Given the description of an element on the screen output the (x, y) to click on. 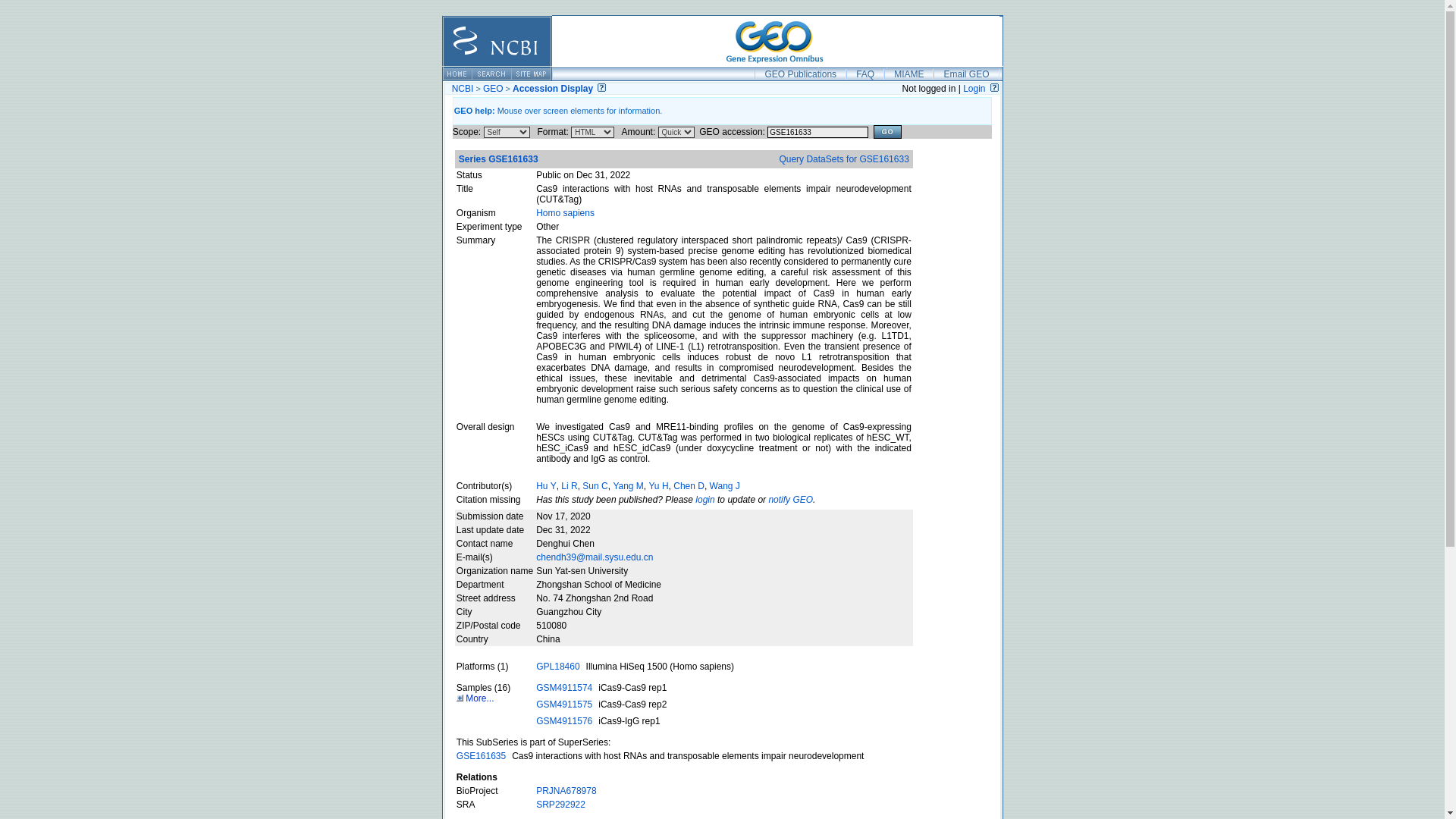
Login (973, 88)
login (704, 499)
 More... (476, 697)
Query DataSets for GSE161633 (843, 158)
Homo sapiens (564, 213)
MIAME (908, 73)
Minimum Information About a Microarray Experiment (908, 73)
GEO Publications (799, 73)
notify GEO (790, 499)
GSM4911576 (563, 720)
GSE161633 (817, 131)
GEO (493, 88)
Yu H (658, 485)
GPL18460 (557, 665)
Accession Display (552, 88)
